Given the description of an element on the screen output the (x, y) to click on. 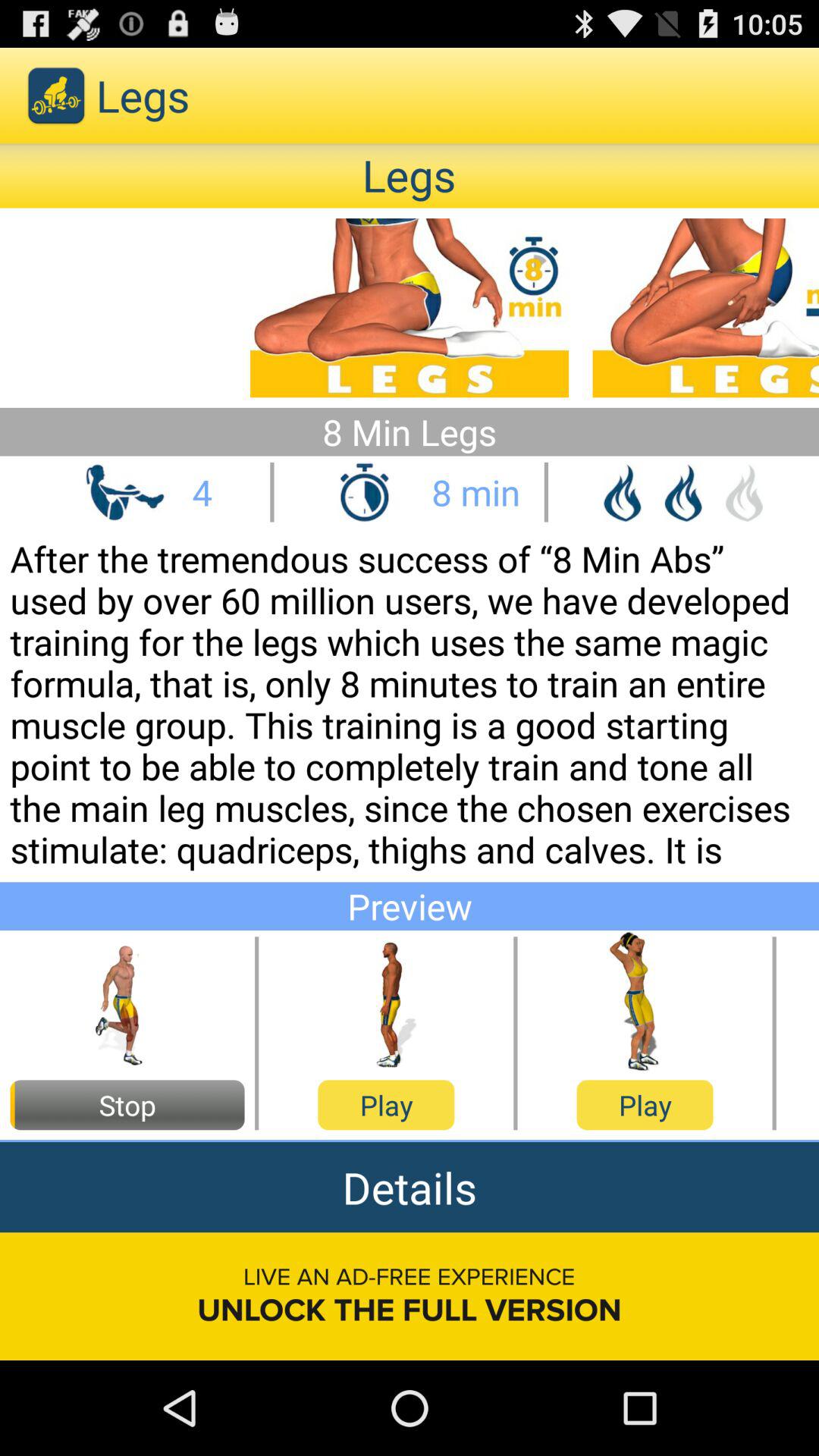
play preview (644, 1001)
